Given the description of an element on the screen output the (x, y) to click on. 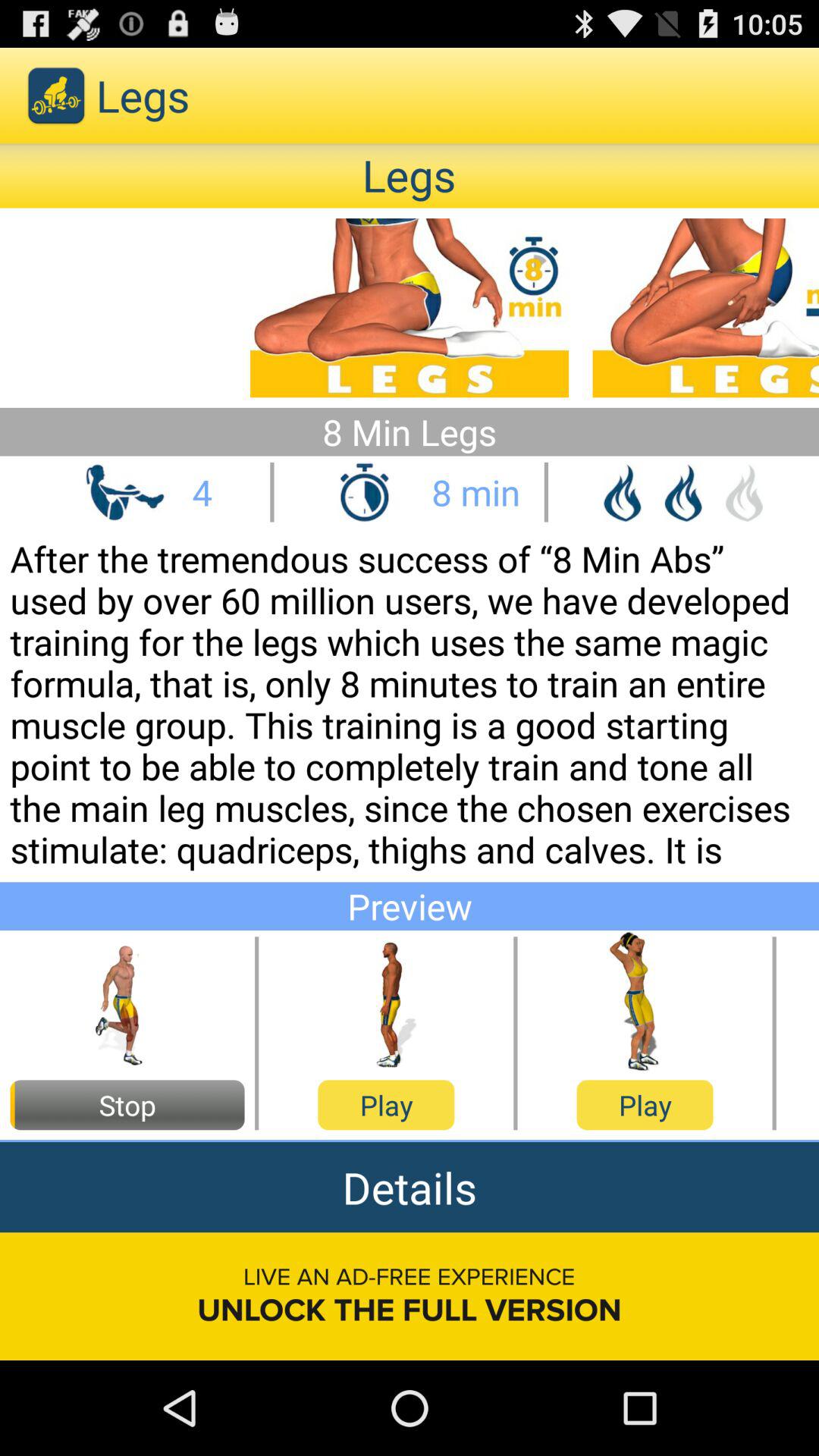
play preview (644, 1001)
